Given the description of an element on the screen output the (x, y) to click on. 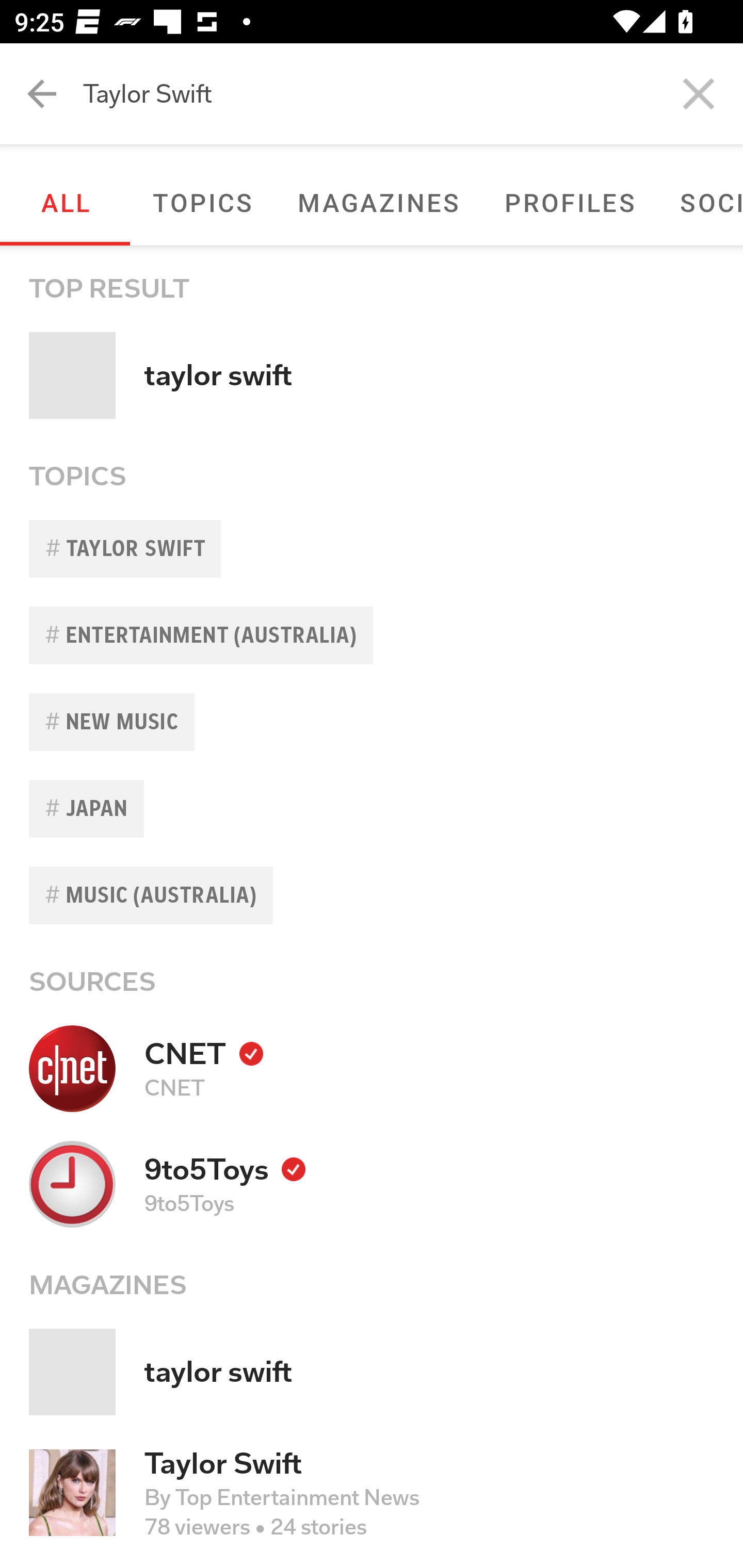
Taylor Swift (413, 93)
TOPICS (202, 202)
MAGAZINES (378, 202)
PROFILES (569, 202)
taylor swift (371, 375)
# TAYLOR SWIFT (371, 548)
# ENTERTAINMENT (AUSTRALIA) (371, 635)
# NEW MUSIC (371, 721)
# JAPAN (371, 808)
# MUSIC (AUSTRALIA) (371, 895)
CNET (371, 1068)
9to5Toys (371, 1183)
taylor swift (371, 1371)
